Given the description of an element on the screen output the (x, y) to click on. 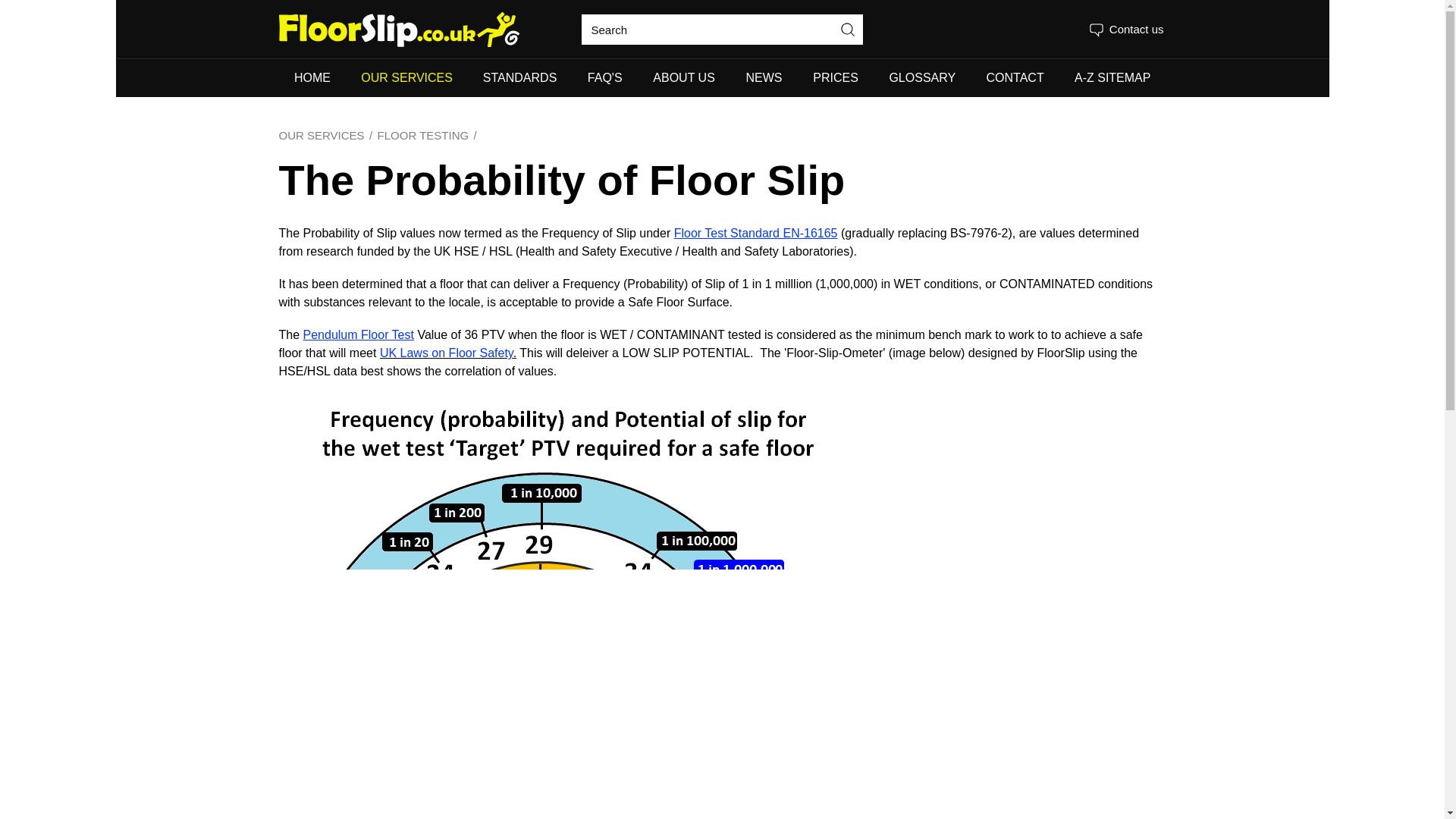
Search (847, 29)
OUR SERVICES (406, 77)
Contact us (1126, 29)
HOME (312, 77)
